Given the description of an element on the screen output the (x, y) to click on. 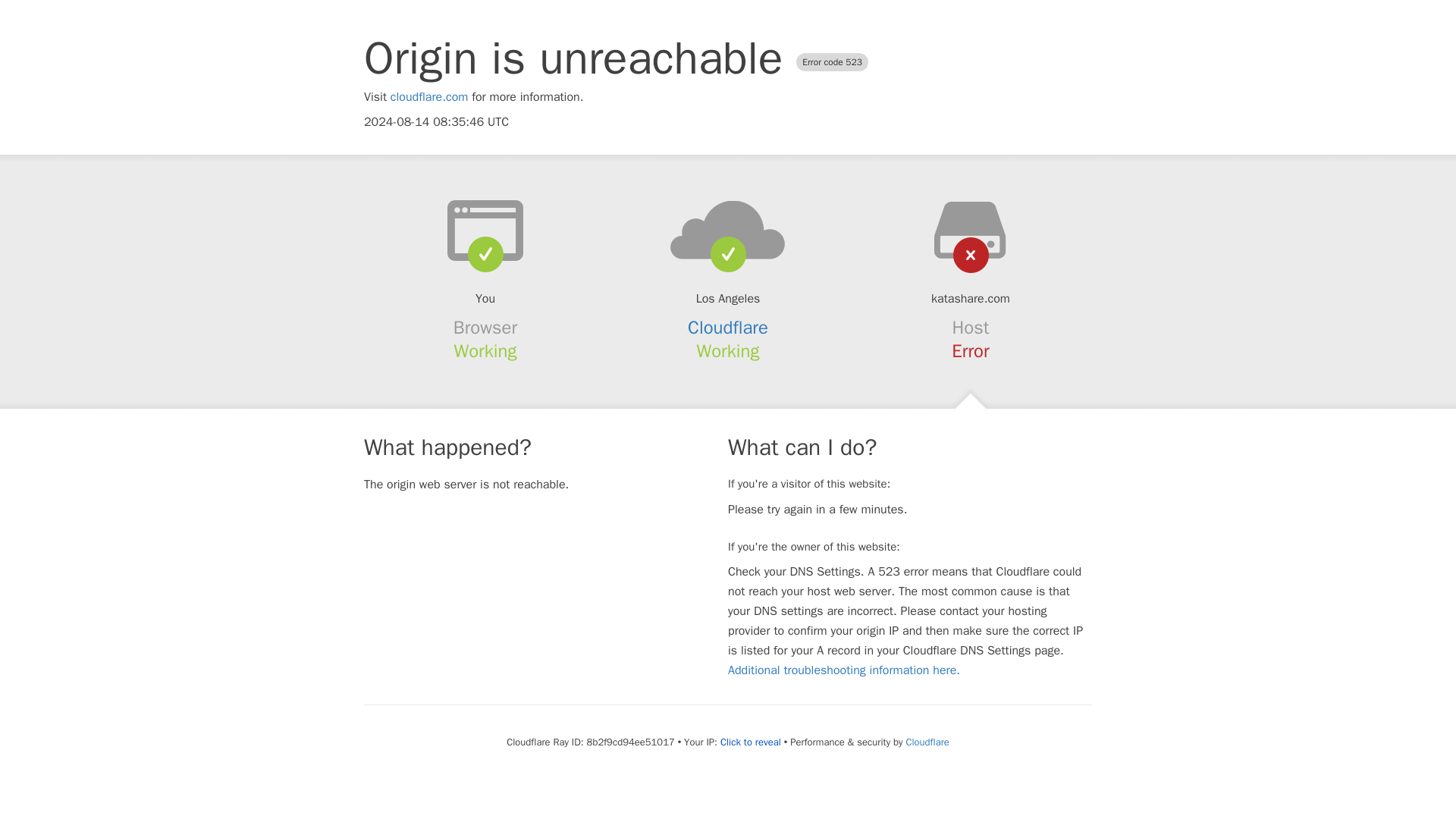
Cloudflare (727, 327)
Click to reveal (750, 742)
Cloudflare (927, 741)
Additional troubleshooting information here. (843, 670)
cloudflare.com (429, 96)
